Given the description of an element on the screen output the (x, y) to click on. 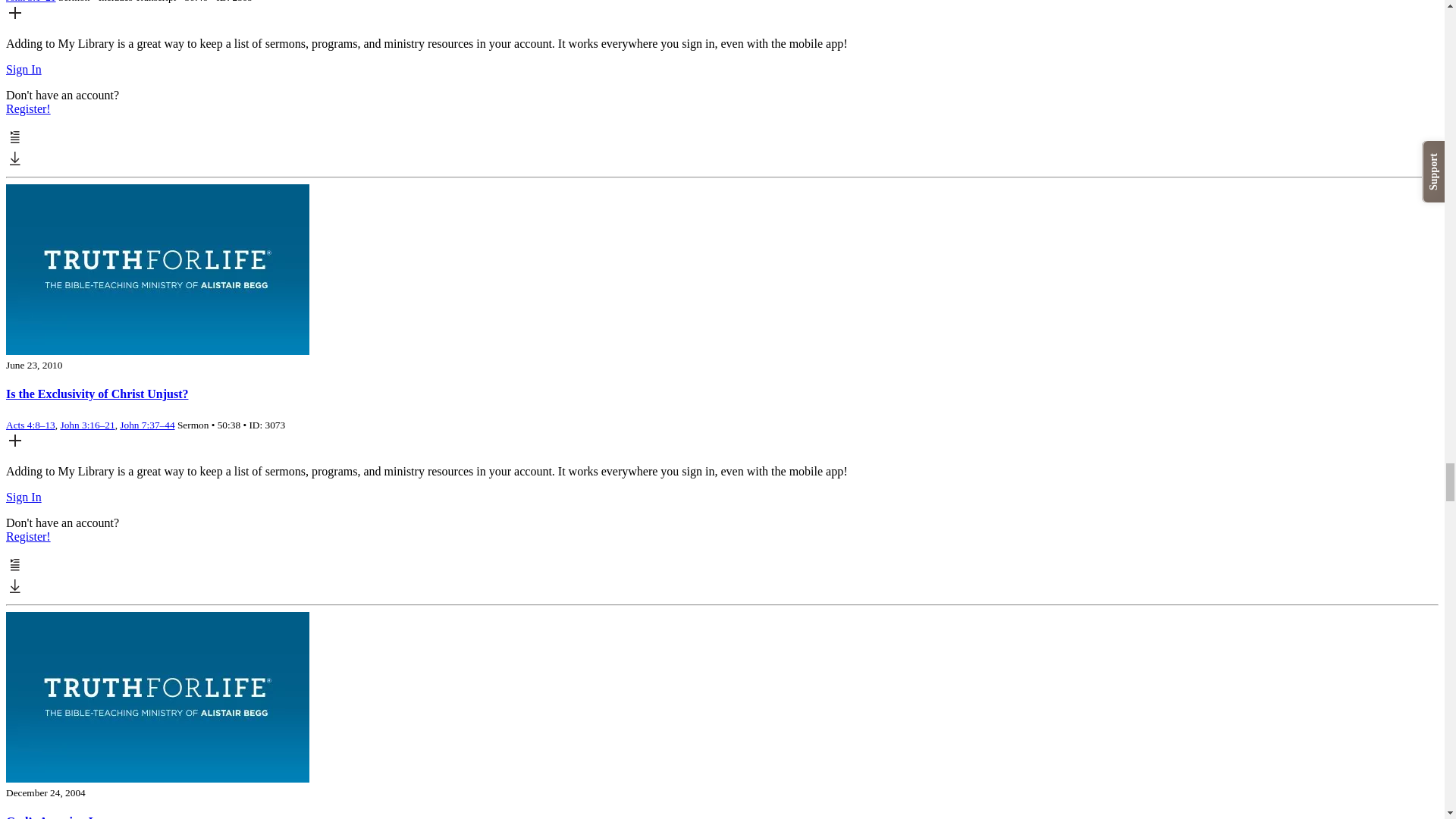
Add to My Library (14, 17)
Download Free (14, 163)
Listen Queue (14, 141)
